Given the description of an element on the screen output the (x, y) to click on. 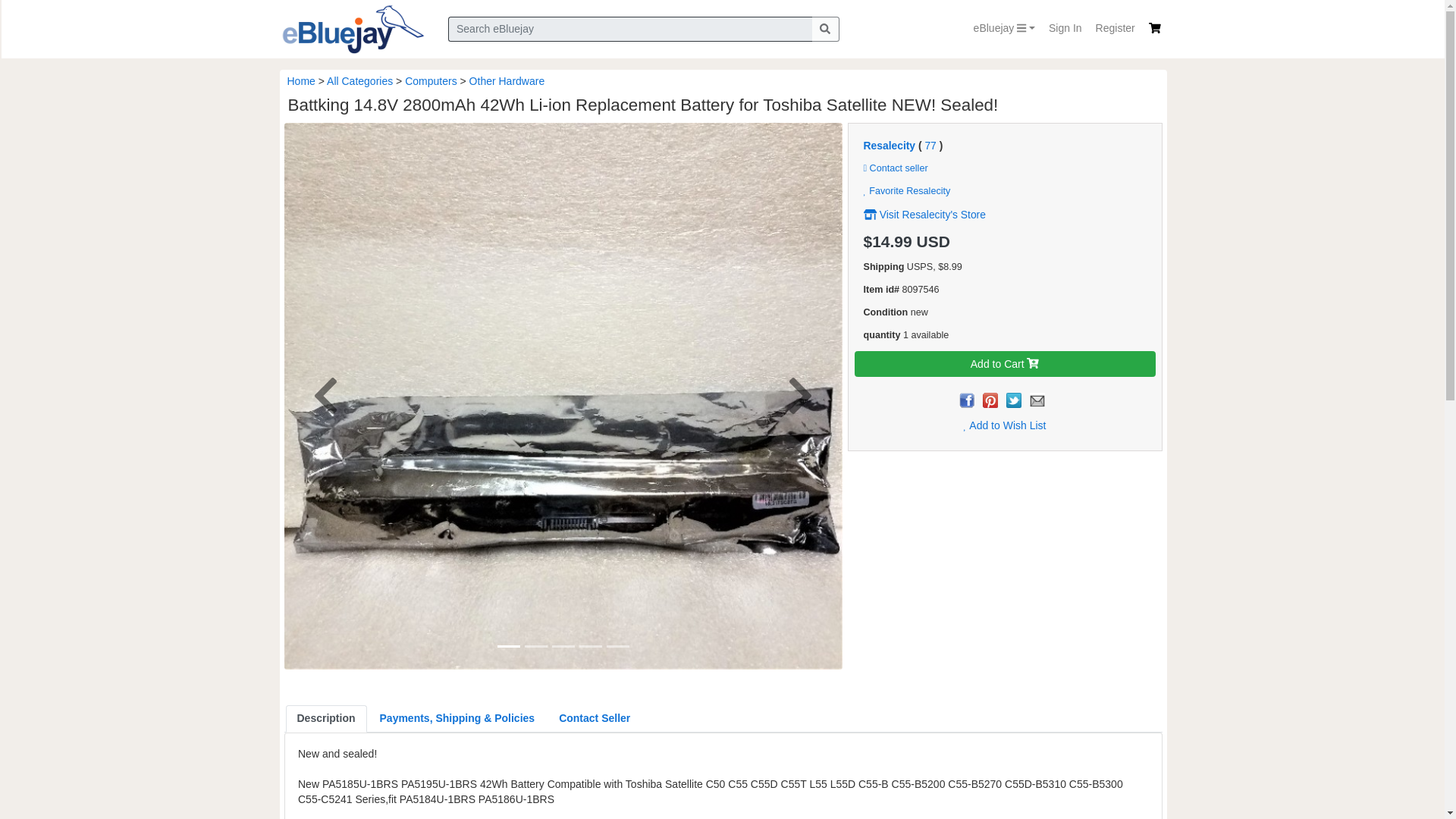
Next (799, 396)
Previous (324, 396)
Resalecity (889, 145)
Purchase items in your shopping cart (1154, 27)
US Dollars (933, 241)
eBluejay (1004, 28)
Purchase items in your shopping cart (1154, 27)
Register (1115, 28)
eBluejay Online Marketplace (352, 29)
Computers (430, 80)
Contact seller (895, 167)
Other Hardware (506, 80)
77 (930, 145)
Purchase items in your shopping cart (1154, 28)
submit (824, 29)
